Given the description of an element on the screen output the (x, y) to click on. 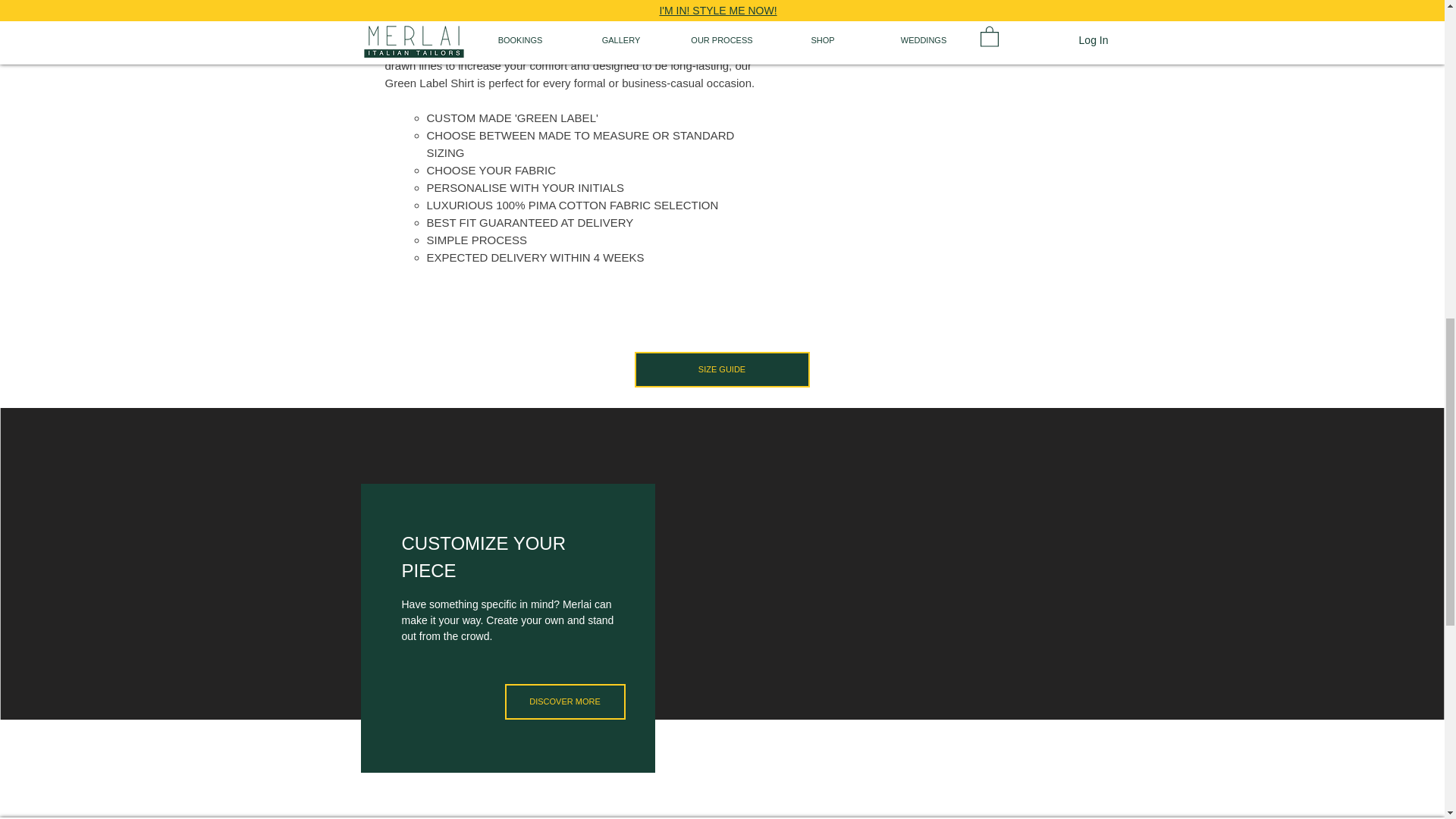
DISCOVER MORE (565, 701)
SIZE GUIDE (721, 369)
